Given the description of an element on the screen output the (x, y) to click on. 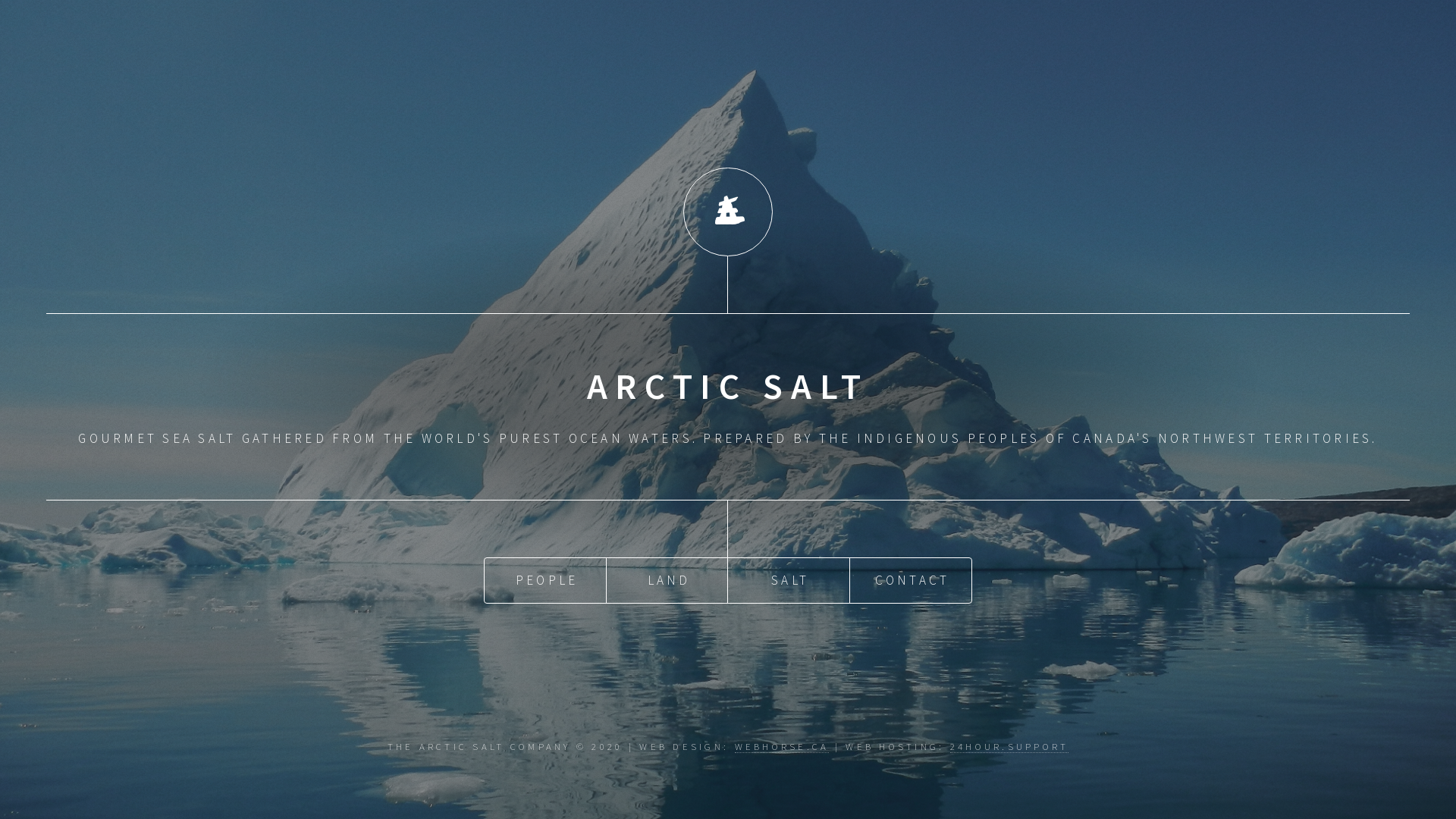
LAND Element type: text (667, 580)
PEOPLE Element type: text (544, 580)
WEBHORSE.CA Element type: text (781, 746)
24HOUR.SUPPORT Element type: text (1009, 746)
CONTACT Element type: text (910, 580)
SALT Element type: text (788, 580)
